Given the description of an element on the screen output the (x, y) to click on. 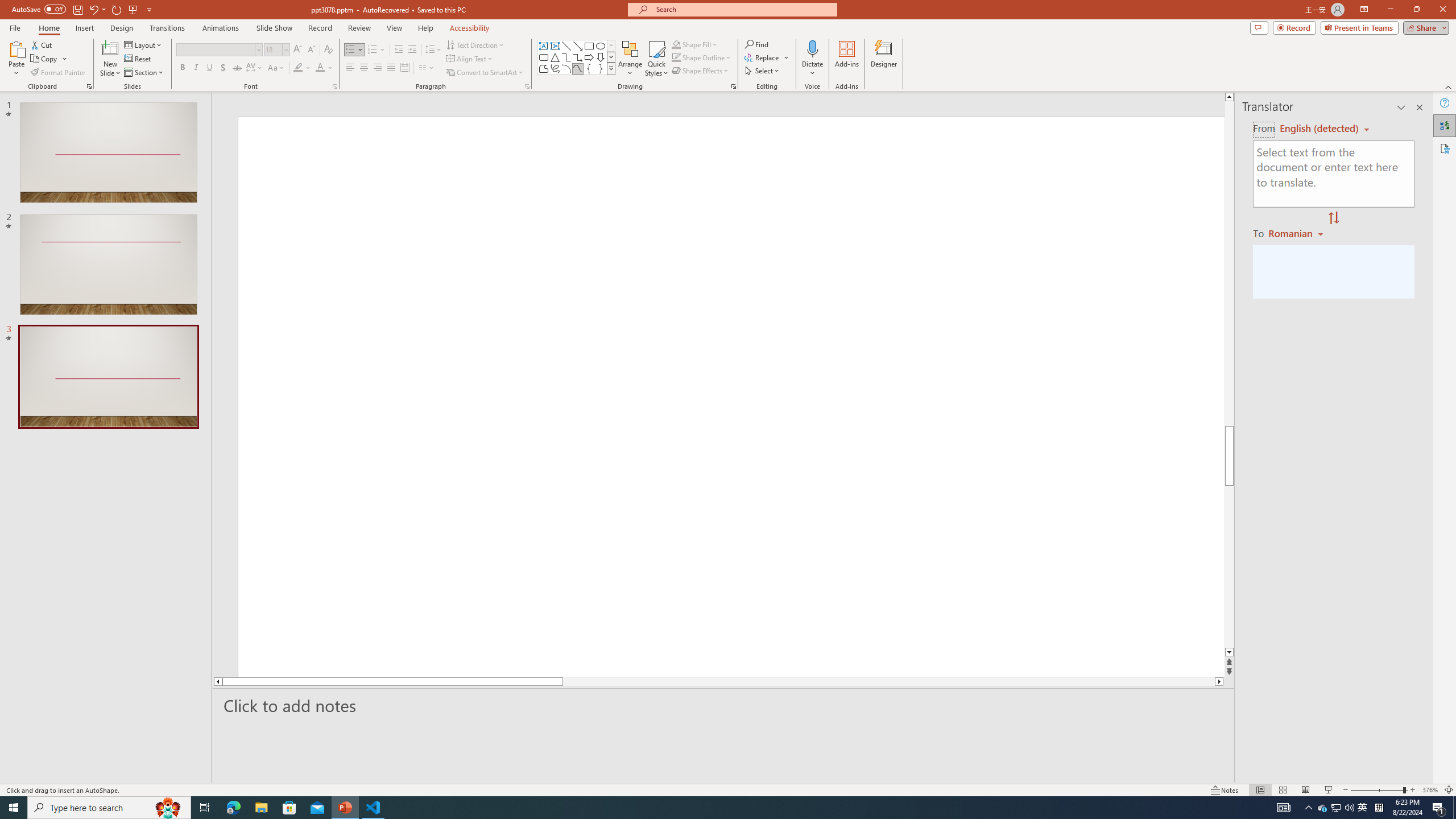
Row Down (611, 56)
AutomationID: ShapesInsertGallery (576, 57)
Paste (16, 48)
Shape Fill Dark Green, Accent 2 (675, 44)
Shape Fill (694, 44)
Swap "from" and "to" languages. (1333, 218)
Accessibility (1444, 147)
Character Spacing (254, 67)
Text Highlight Color Yellow (297, 67)
Line Spacing (433, 49)
Decrease Font Size (310, 49)
Rectangle: Rounded Corners (543, 57)
Class: MsoCommandBar (728, 789)
Slide Notes (724, 705)
